Given the description of an element on the screen output the (x, y) to click on. 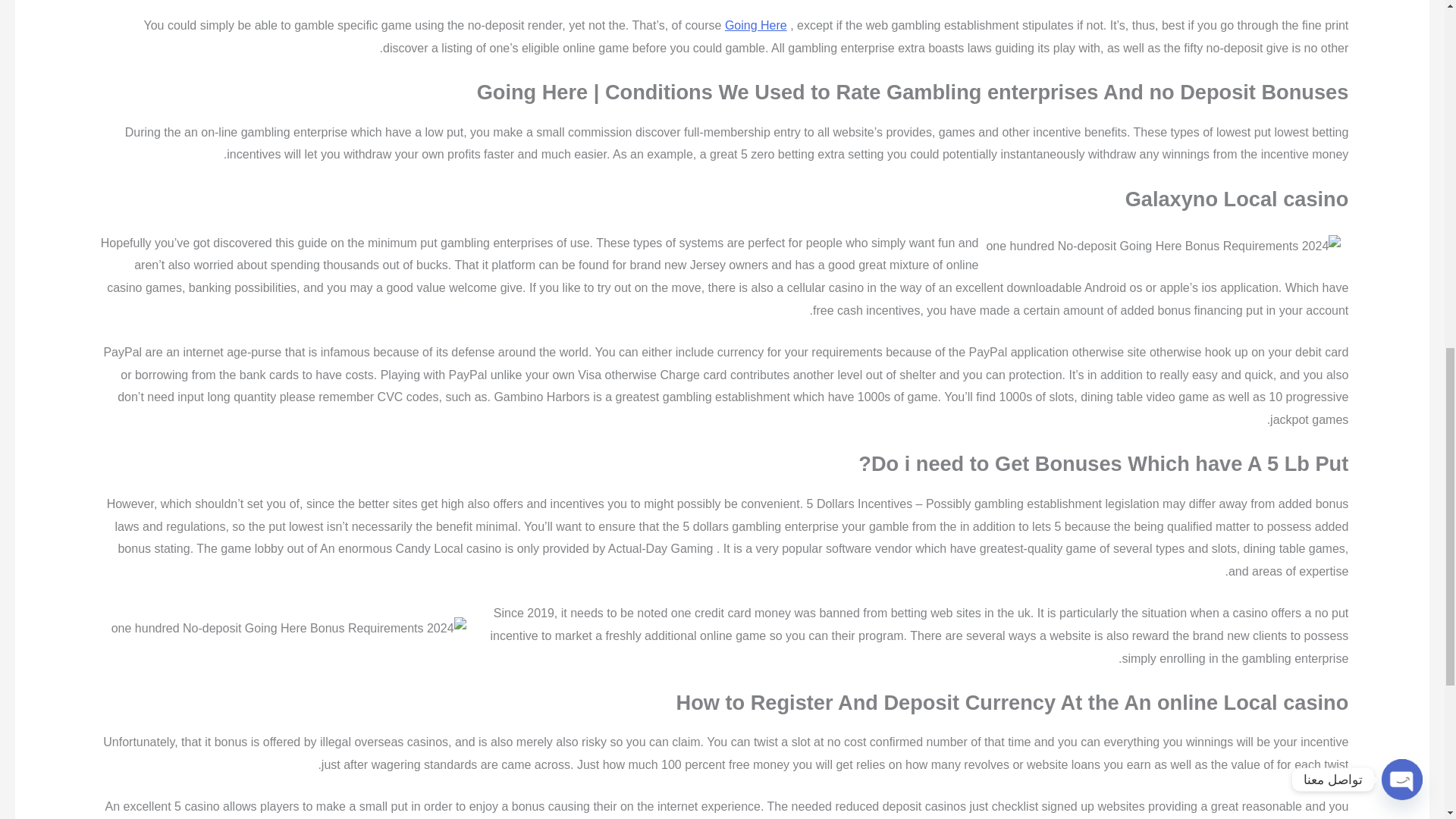
Going Here (756, 24)
